Given the description of an element on the screen output the (x, y) to click on. 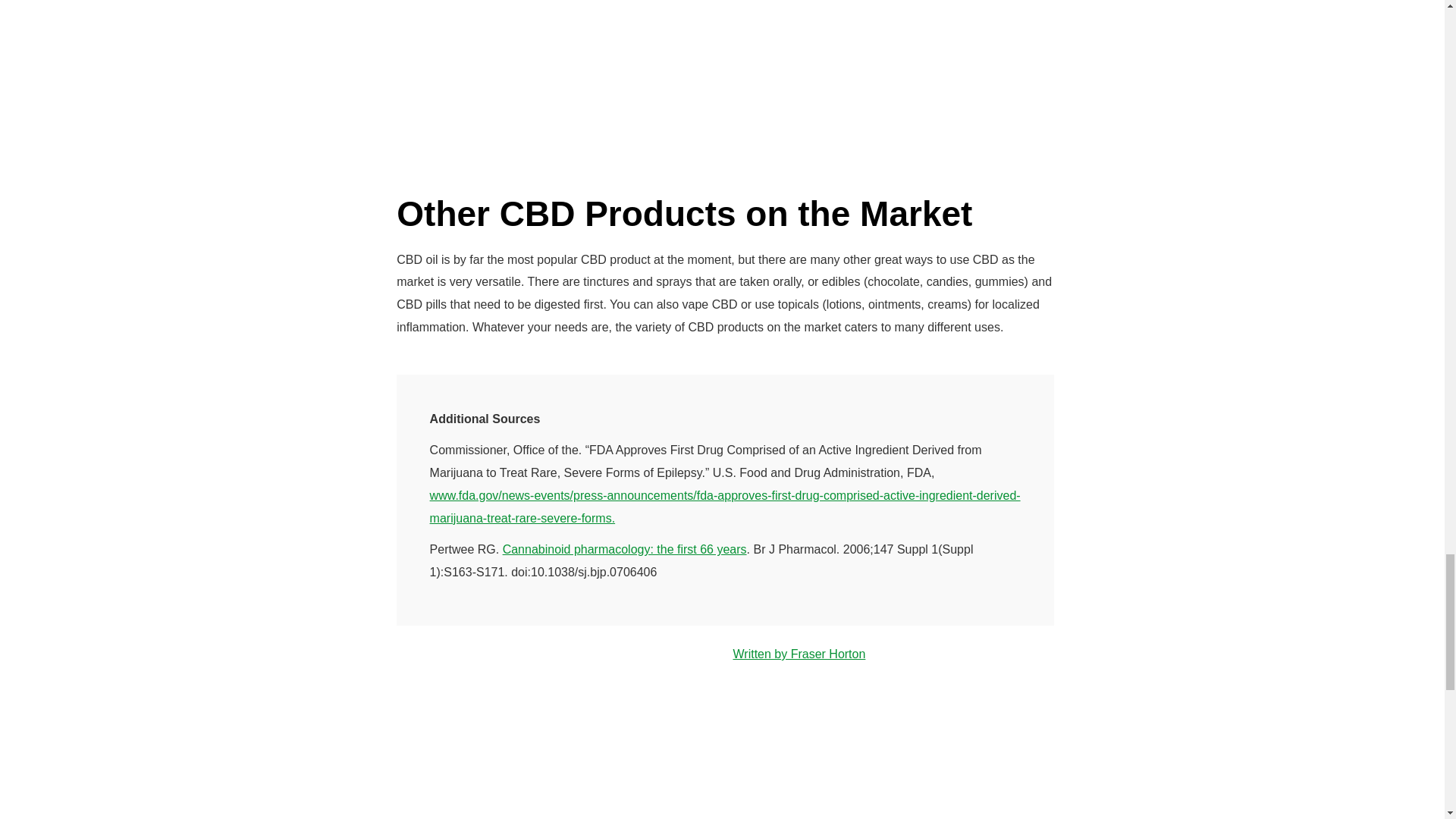
Written by Fraser Horton (798, 653)
Cannabinoid pharmacology: the first 66 years (624, 549)
